Given the description of an element on the screen output the (x, y) to click on. 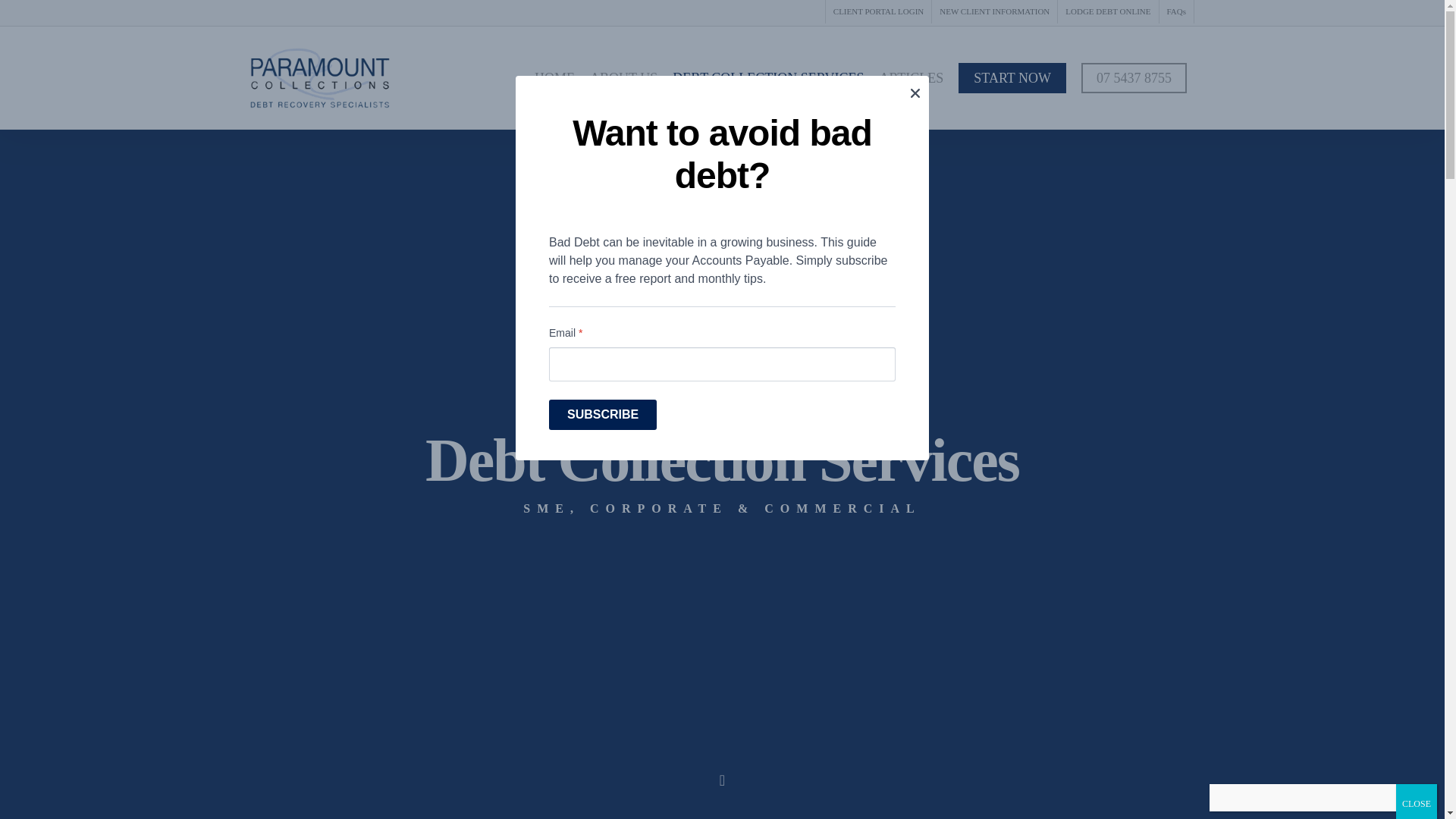
DEBT COLLECTION SERVICES (767, 78)
FAQs (1175, 11)
07 5437 8755 (1133, 78)
ABOUT US (623, 78)
NEW CLIENT INFORMATION (994, 11)
LODGE DEBT ONLINE (1107, 11)
HOME (554, 78)
START NOW (1011, 78)
CLIENT PORTAL LOGIN (878, 11)
ARTICLES (910, 78)
